Given the description of an element on the screen output the (x, y) to click on. 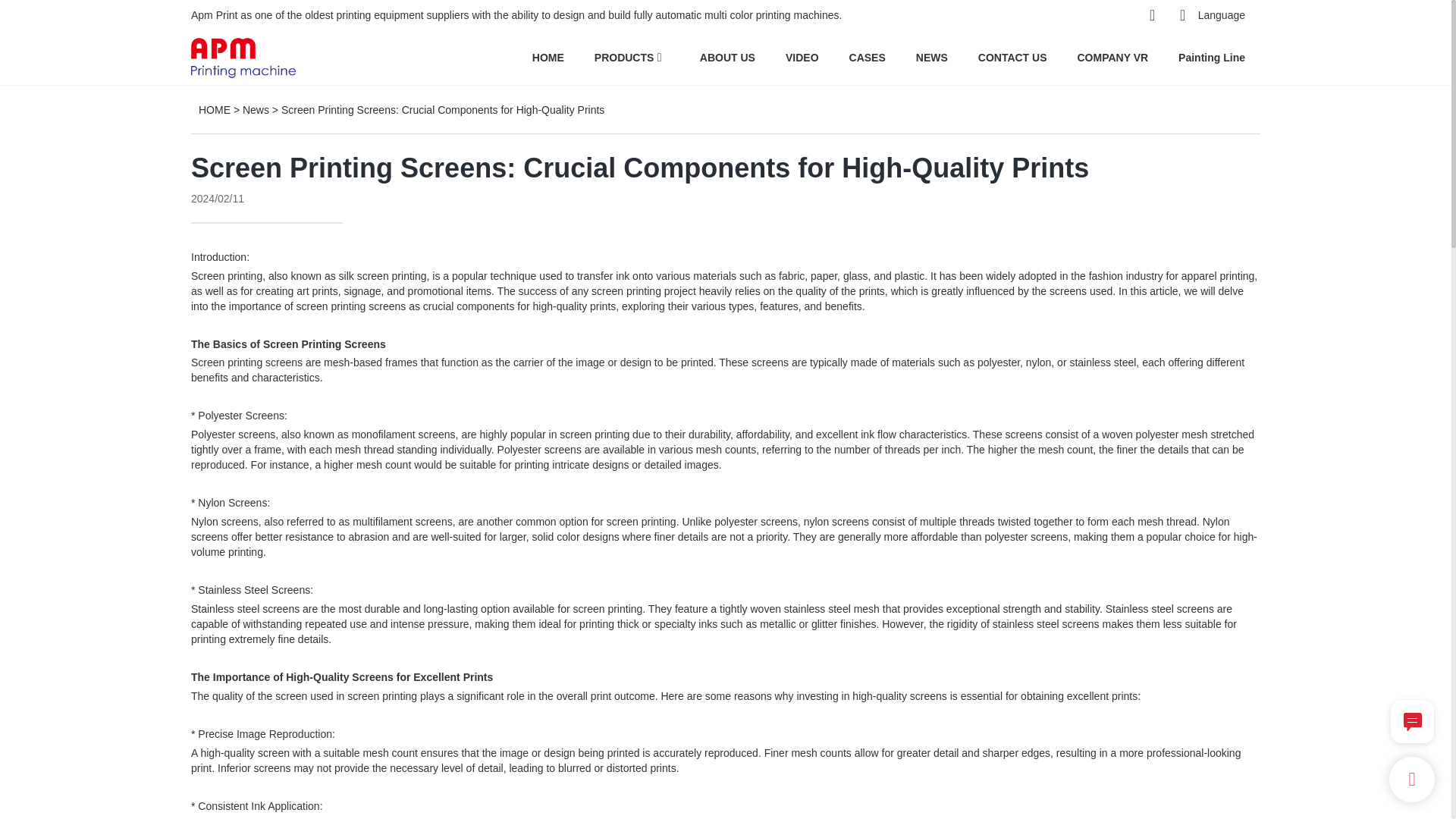
ABOUT US (727, 57)
CONTACT US (1012, 57)
NEWS (931, 57)
HOME (548, 57)
HOME (214, 110)
COMPANY VR (1112, 57)
PRODUCTS (623, 57)
News (256, 110)
CASES (866, 57)
Painting Line (1210, 57)
VIDEO (802, 57)
